Given the description of an element on the screen output the (x, y) to click on. 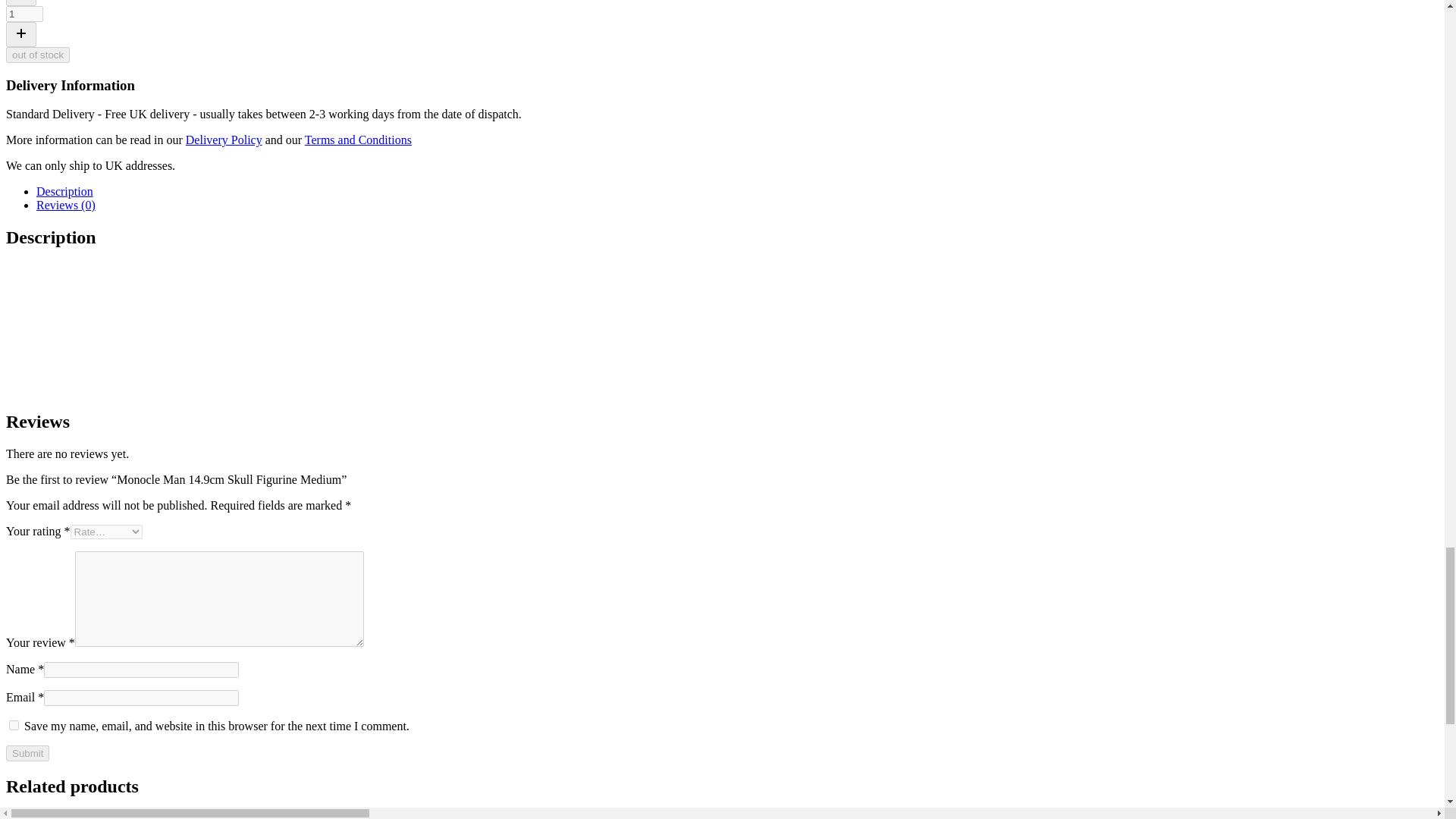
Submit (27, 753)
Submit (27, 753)
Terms and Conditions (358, 139)
Description (64, 191)
Delivery Policy (224, 139)
1 (24, 13)
yes (13, 725)
out of stock (37, 54)
